Given the description of an element on the screen output the (x, y) to click on. 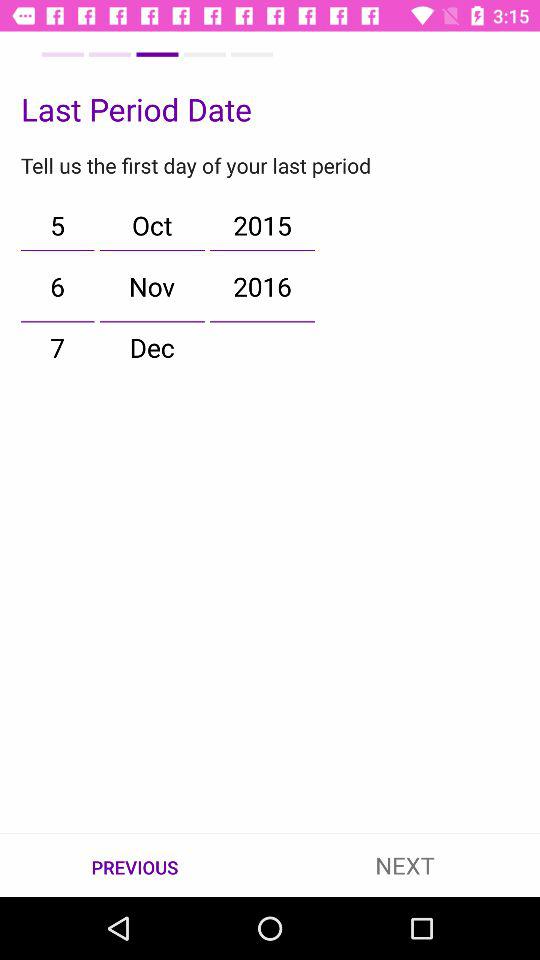
launch the icon at the bottom left corner (135, 865)
